Given the description of an element on the screen output the (x, y) to click on. 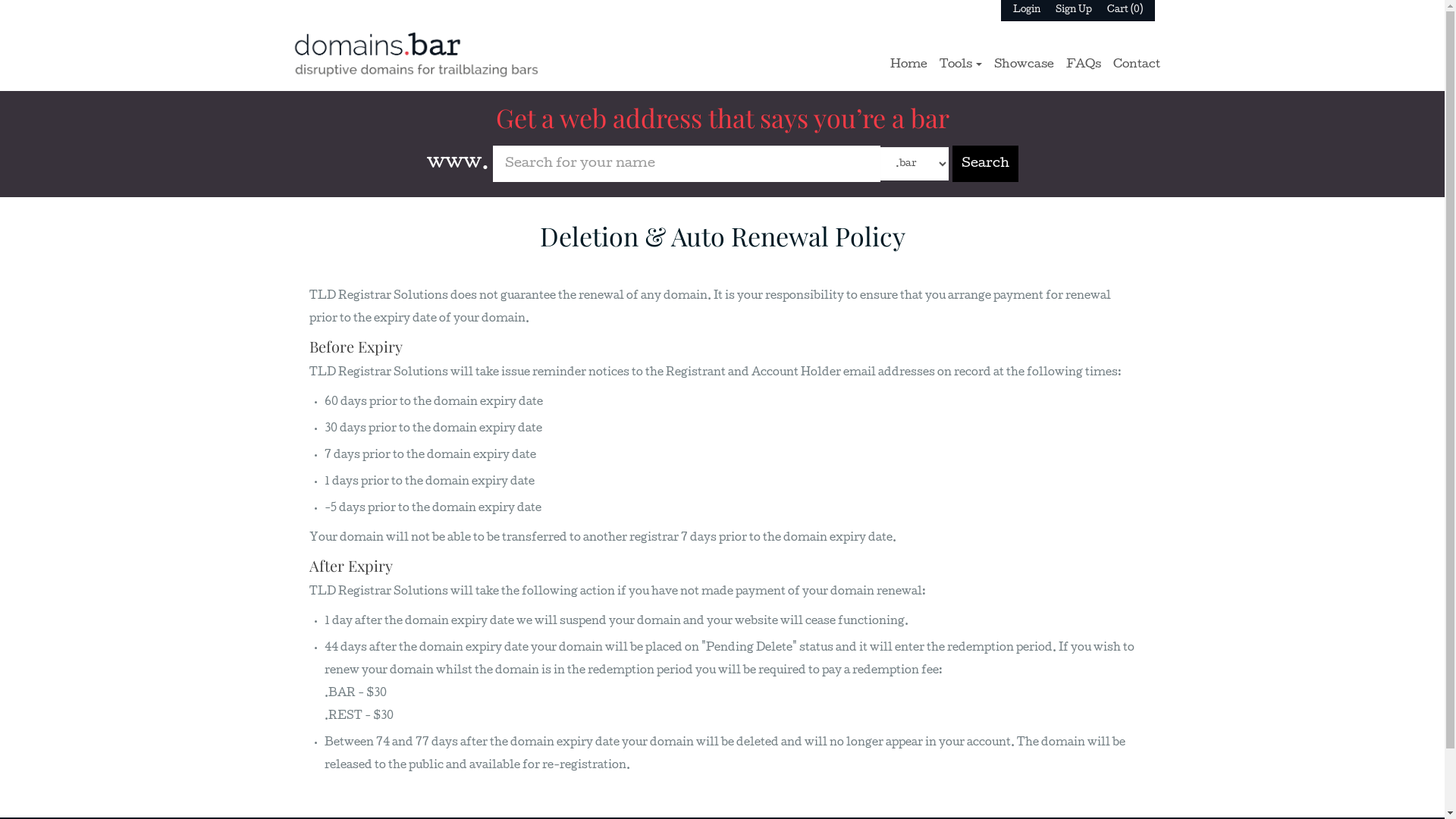
FAQs Element type: text (1083, 64)
Showcase Element type: text (1023, 64)
Cart (0) Element type: text (1124, 10)
Home Element type: text (908, 64)
Search Element type: text (985, 163)
Contact Element type: text (1136, 64)
Login Element type: text (1026, 10)
Sign Up Element type: text (1073, 10)
Tools Element type: text (959, 64)
